Given the description of an element on the screen output the (x, y) to click on. 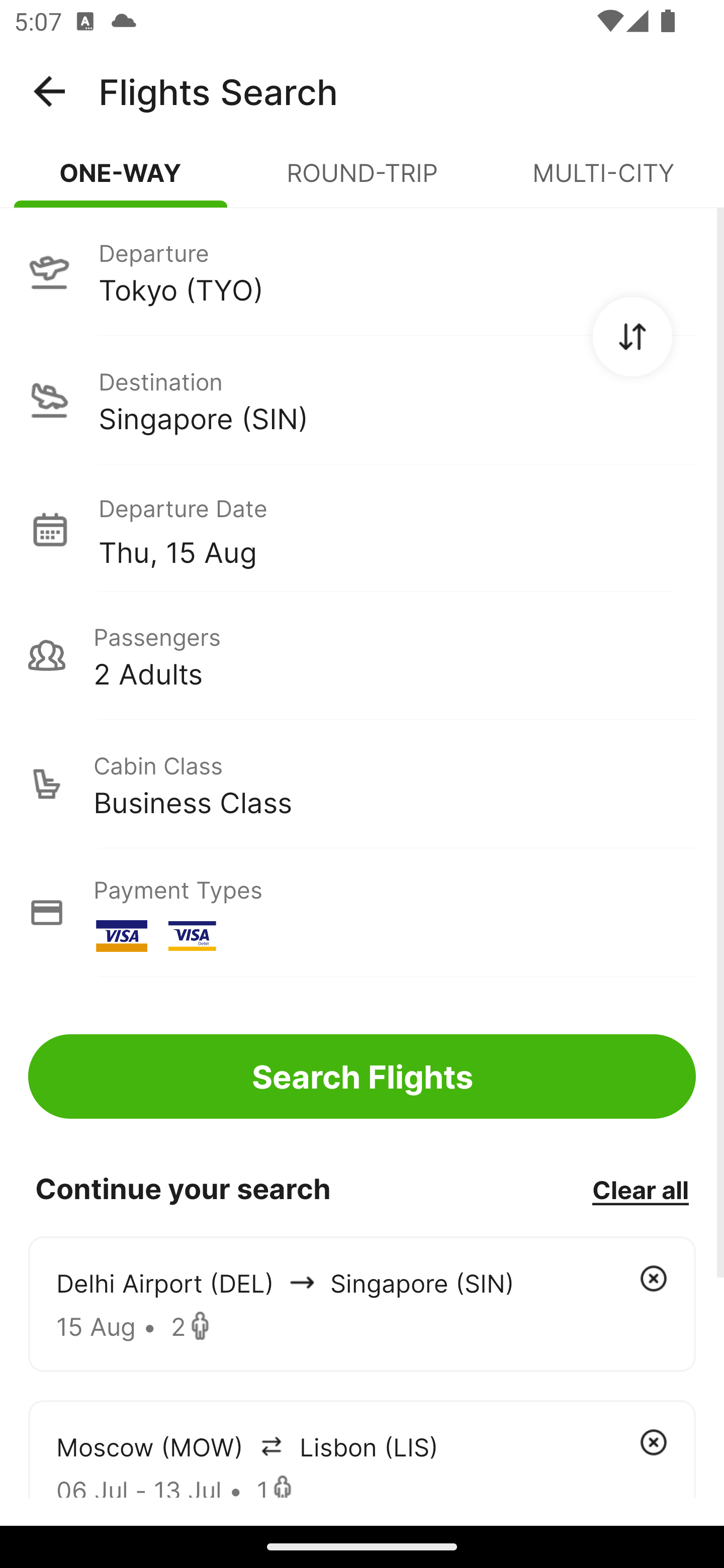
ONE-WAY (120, 180)
ROUND-TRIP (361, 180)
MULTI-CITY (603, 180)
Departure Tokyo (TYO) (362, 270)
Destination Singapore (SIN) (362, 400)
Departure Date Thu, 15 Aug (396, 528)
Passengers 2 Adults (362, 655)
Cabin Class Business Class (362, 783)
Payment Types (362, 912)
Search Flights (361, 1075)
Clear all (640, 1189)
